Given the description of an element on the screen output the (x, y) to click on. 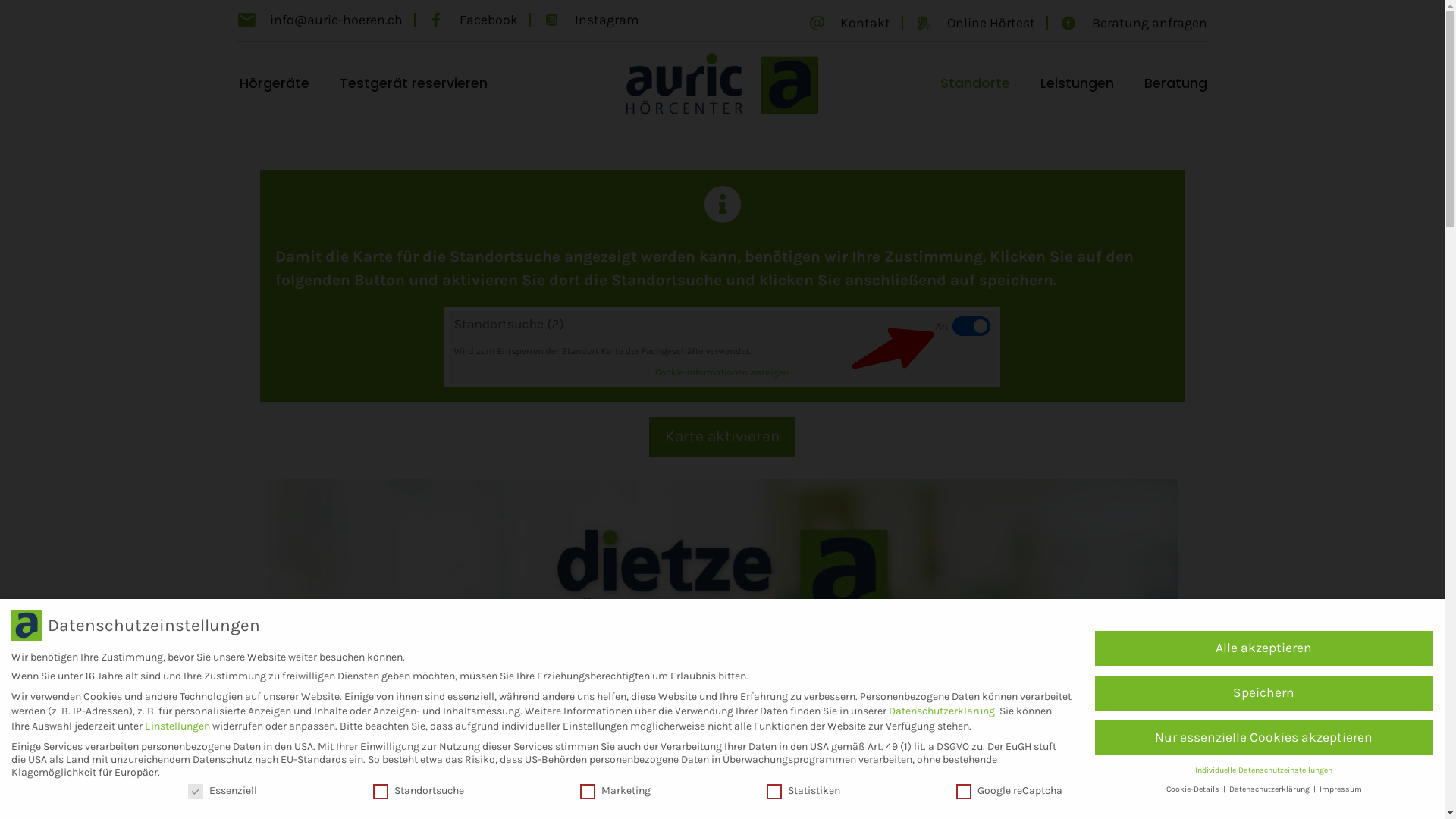
info@auric-hoeren.ch Element type: text (318, 19)
Route Element type: text (993, 712)
Karte aktivieren Element type: text (722, 436)
Nur essenzielle Cookies akzeptieren Element type: text (1264, 737)
Standorte Element type: text (975, 82)
Beratung anfragen Element type: text (1133, 22)
Alle akzeptieren Element type: text (1264, 647)
Einstellungen Element type: text (177, 725)
Cookie-Details Element type: text (1193, 788)
Kontakt Element type: text (848, 22)
Individuelle Datenschutzeinstellungen Element type: text (1263, 770)
Beratung Element type: text (1175, 82)
Termin vereinbaren Element type: text (1100, 712)
Facebook Element type: text (471, 19)
Impressum Element type: text (1340, 788)
Speichern Element type: text (1264, 692)
Instagram Element type: text (590, 19)
Leistungen Element type: text (1077, 82)
